Given the description of an element on the screen output the (x, y) to click on. 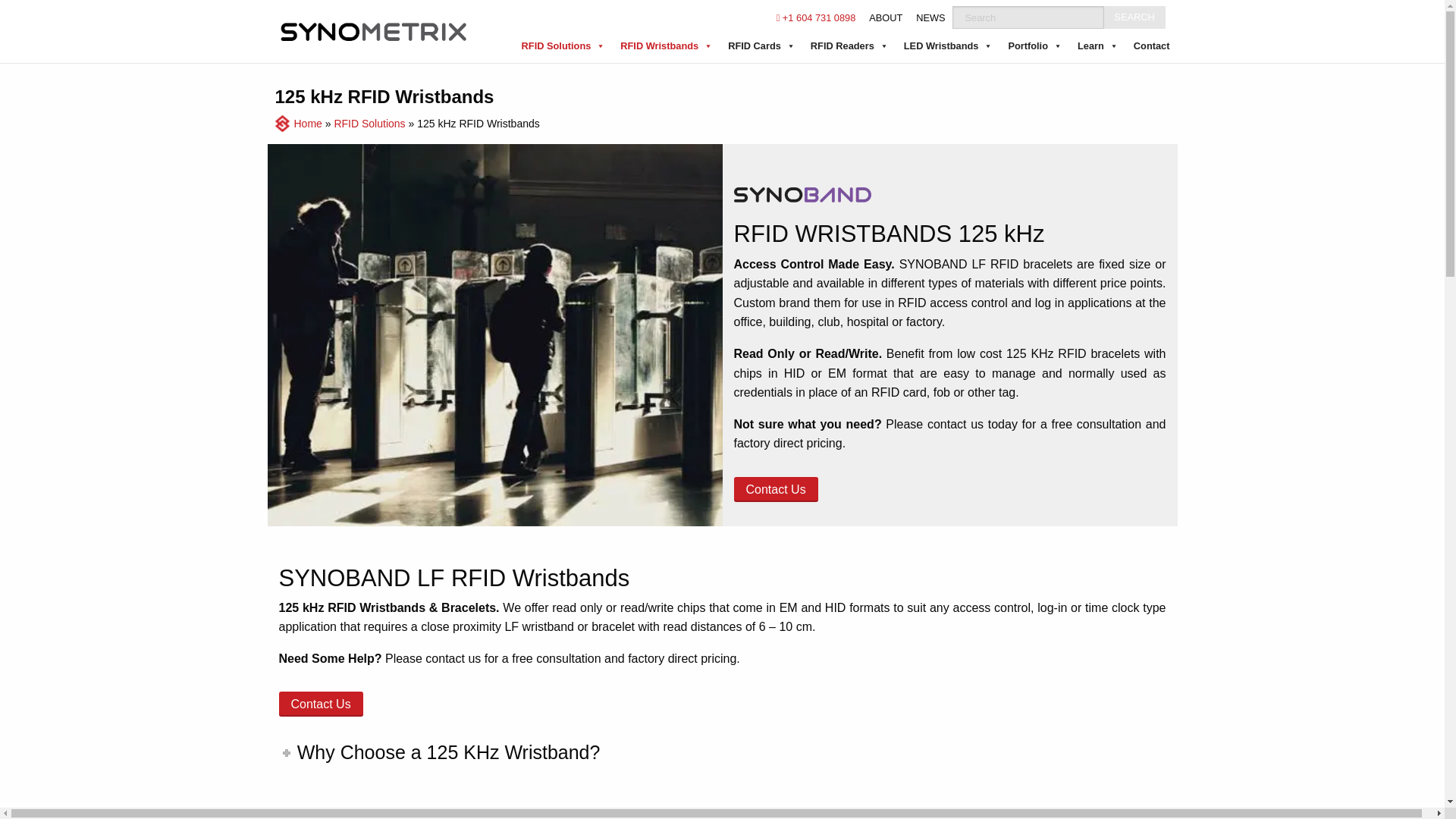
Search (1134, 16)
